Given the description of an element on the screen output the (x, y) to click on. 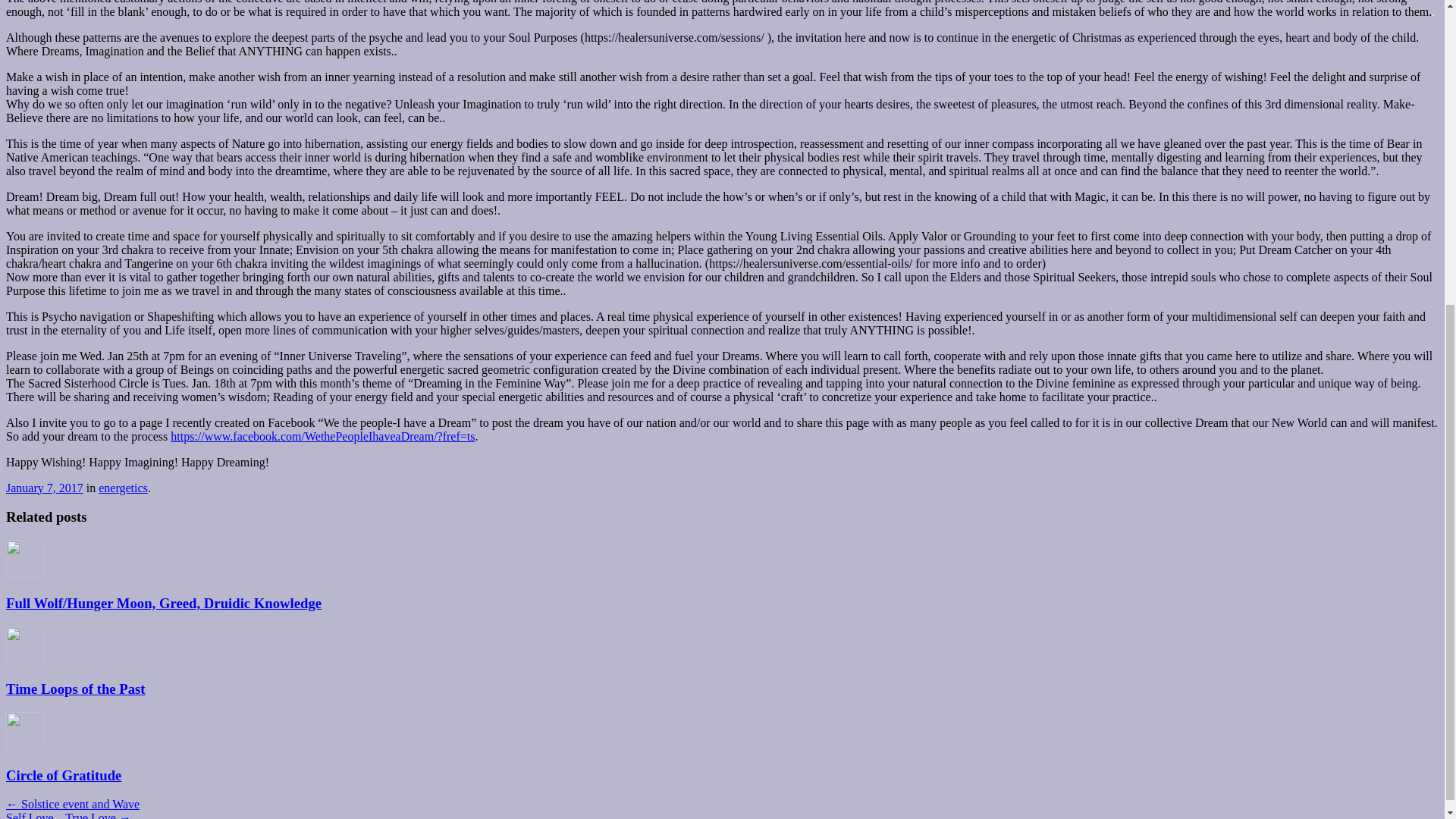
energetics (123, 487)
January 7, 2017 (43, 487)
Time Loops of the Past (75, 688)
Permalink to Time Loops of the Past (75, 688)
Permalink to Circle of Gratitude (62, 774)
Circle of Gratitude (62, 774)
